Given the description of an element on the screen output the (x, y) to click on. 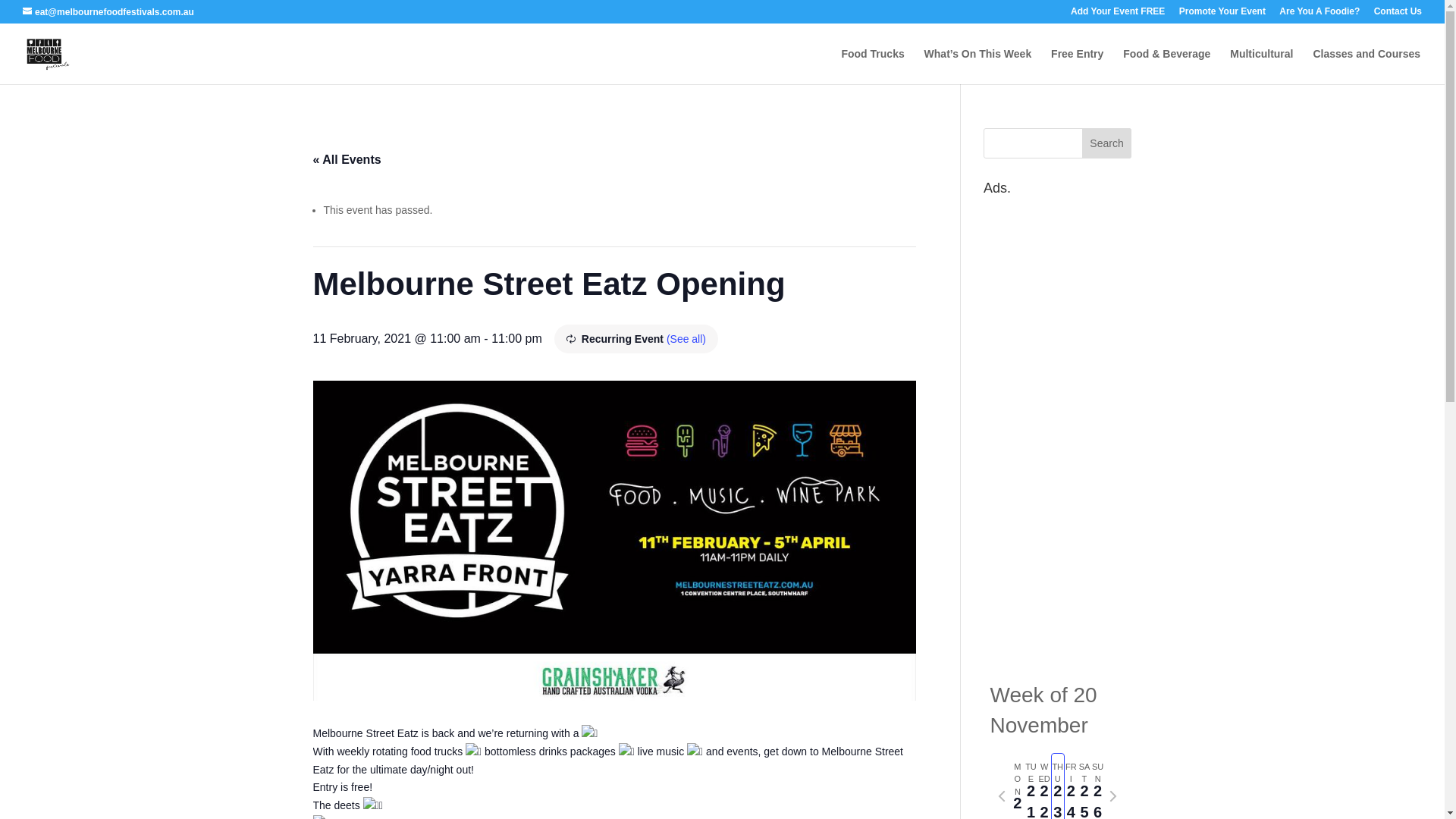
(See all) Element type: text (686, 338)
Contact Us Element type: text (1397, 14)
Promote Your Event Element type: text (1222, 14)
Free Entry Element type: text (1077, 66)
Food & Beverage Element type: text (1166, 66)
eat@melbournefoodfestivals.com.au Element type: text (108, 11)
Search Element type: text (1107, 143)
Classes and Courses Element type: text (1366, 66)
Previous week Element type: text (1001, 795)
Multicultural Element type: text (1261, 66)
Advertisement Element type: hover (1057, 429)
Are You A Foodie? Element type: text (1319, 14)
Food Trucks Element type: text (871, 66)
Next week Element type: text (1113, 795)
Add Your Event FREE Element type: text (1117, 14)
